Given the description of an element on the screen output the (x, y) to click on. 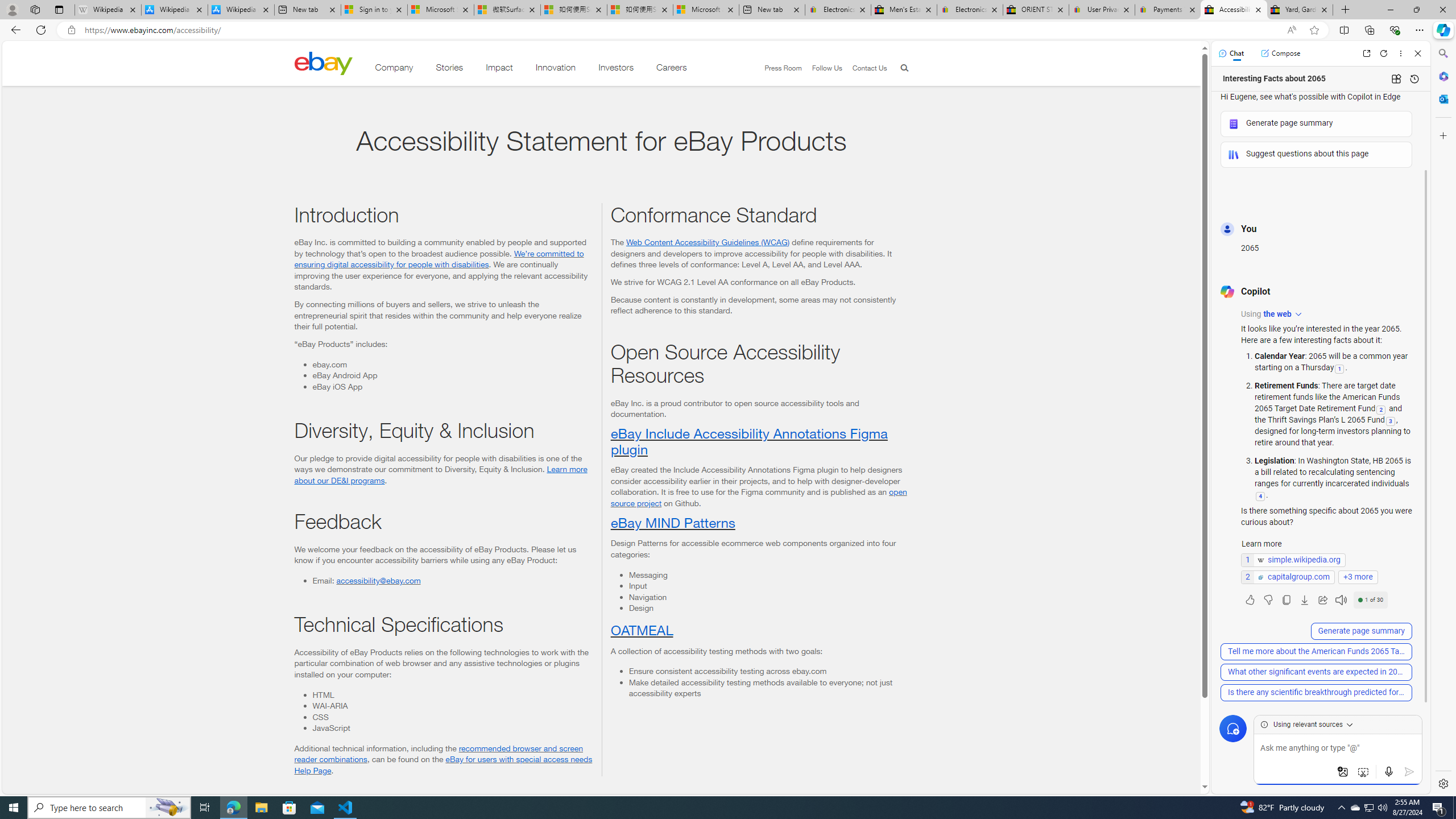
Messaging (768, 574)
Electronics, Cars, Fashion, Collectibles & More | eBay (969, 9)
Yard, Garden & Outdoor Living (1300, 9)
Contact Us (863, 68)
Navigation (768, 596)
Careers (671, 69)
Press Room (778, 68)
Ensure consistent accessibility testing across ebay.com (768, 670)
Chat (1231, 52)
Learn more about our DE&I programs (441, 474)
Accessibility - eBay Inc. (1233, 9)
recommended browser and screen reader combinations (438, 753)
